Given the description of an element on the screen output the (x, y) to click on. 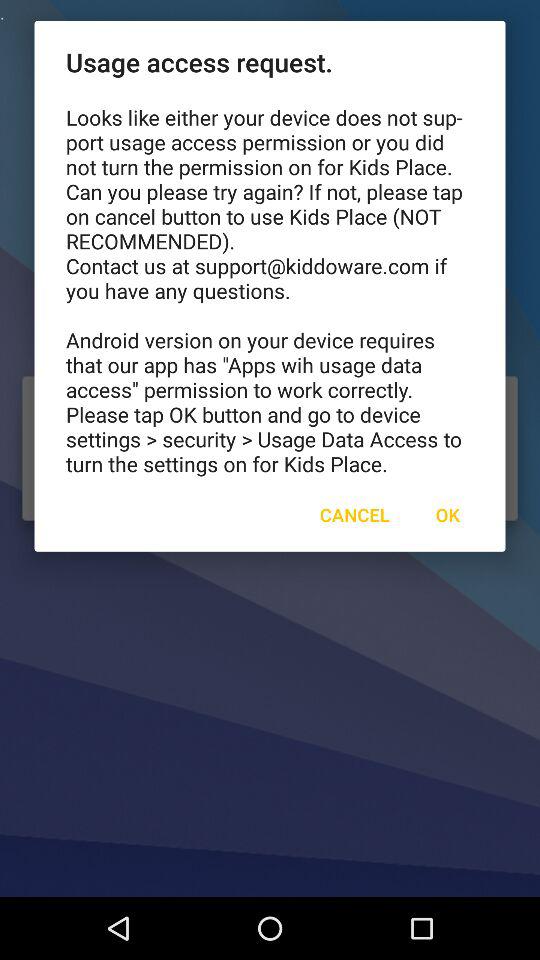
flip until the ok item (447, 514)
